Given the description of an element on the screen output the (x, y) to click on. 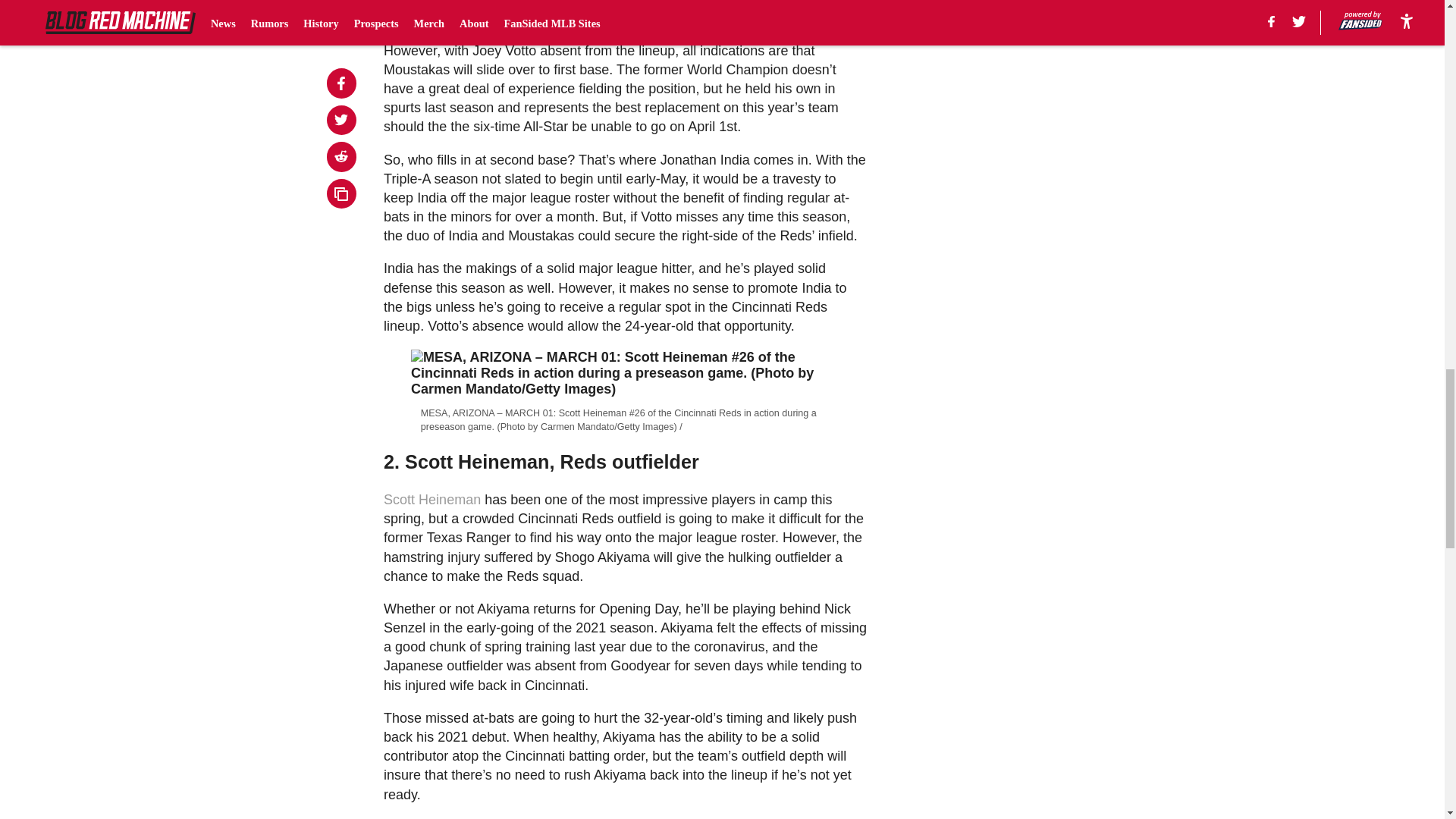
Scott Heineman (432, 499)
